Given the description of an element on the screen output the (x, y) to click on. 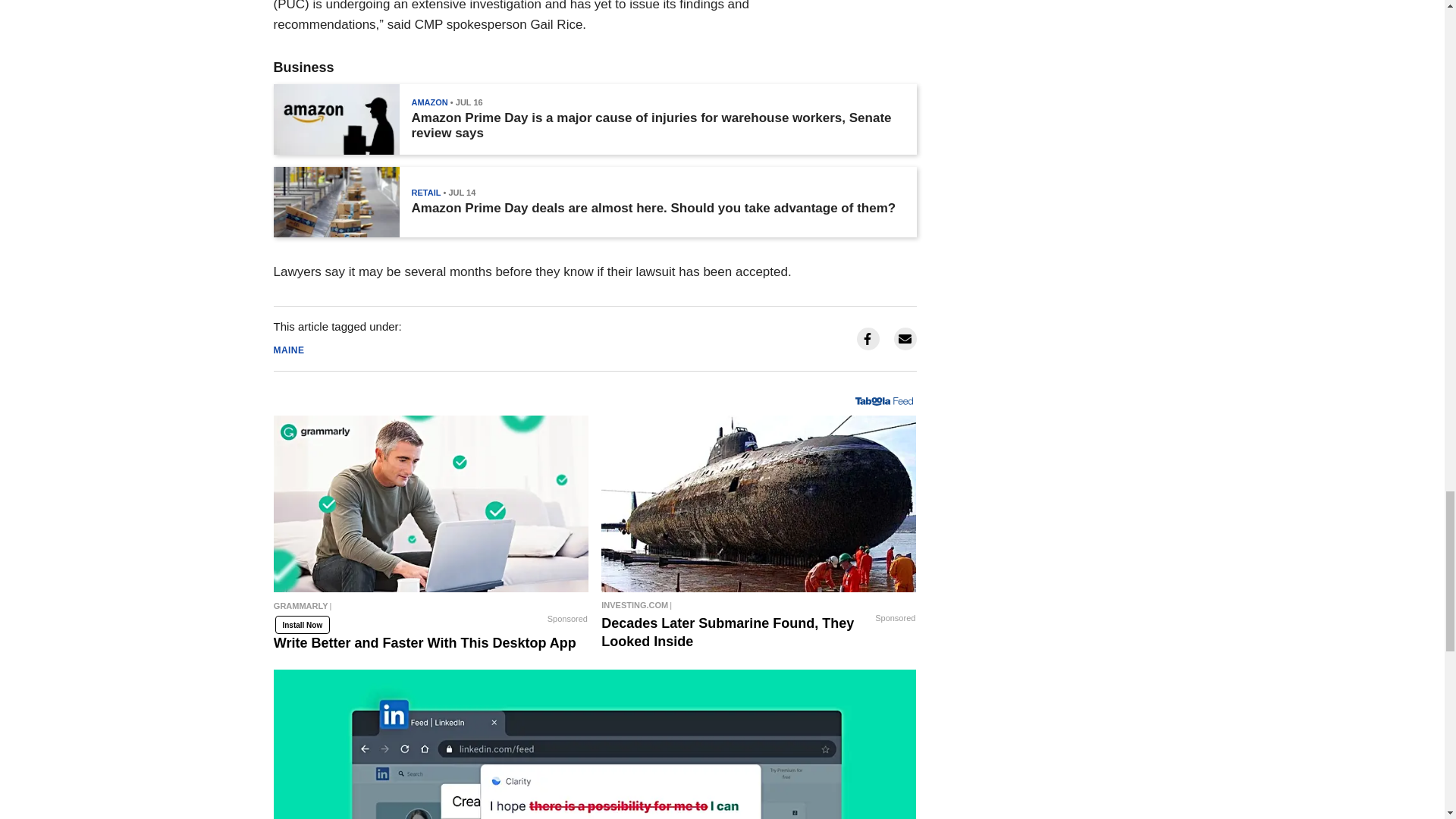
What is your writing missing? (595, 744)
Decades Later Submarine Found, They Looked Inside (758, 605)
Decades Later Submarine Found, They Looked Inside (758, 503)
Write Better and Faster With This Desktop App (430, 609)
AMAZON (428, 102)
Write Better and Faster With This Desktop App (430, 503)
RETAIL (425, 192)
